Given the description of an element on the screen output the (x, y) to click on. 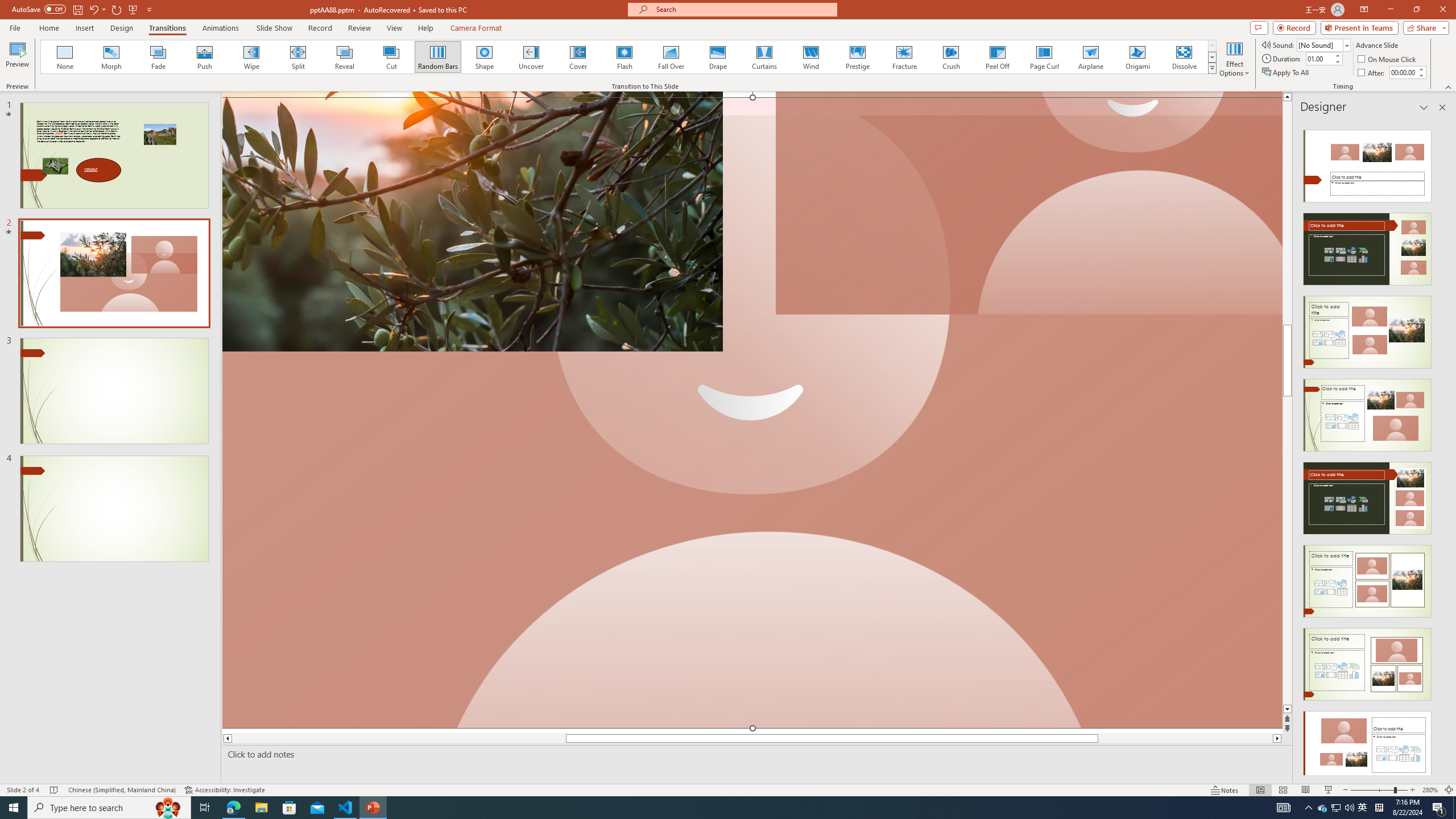
Close up of an olive branch on a sunset (472, 221)
Shape (484, 56)
Wipe (251, 56)
Apply To All (1286, 72)
Split (298, 56)
Zoom 280% (1430, 790)
